Given the description of an element on the screen output the (x, y) to click on. 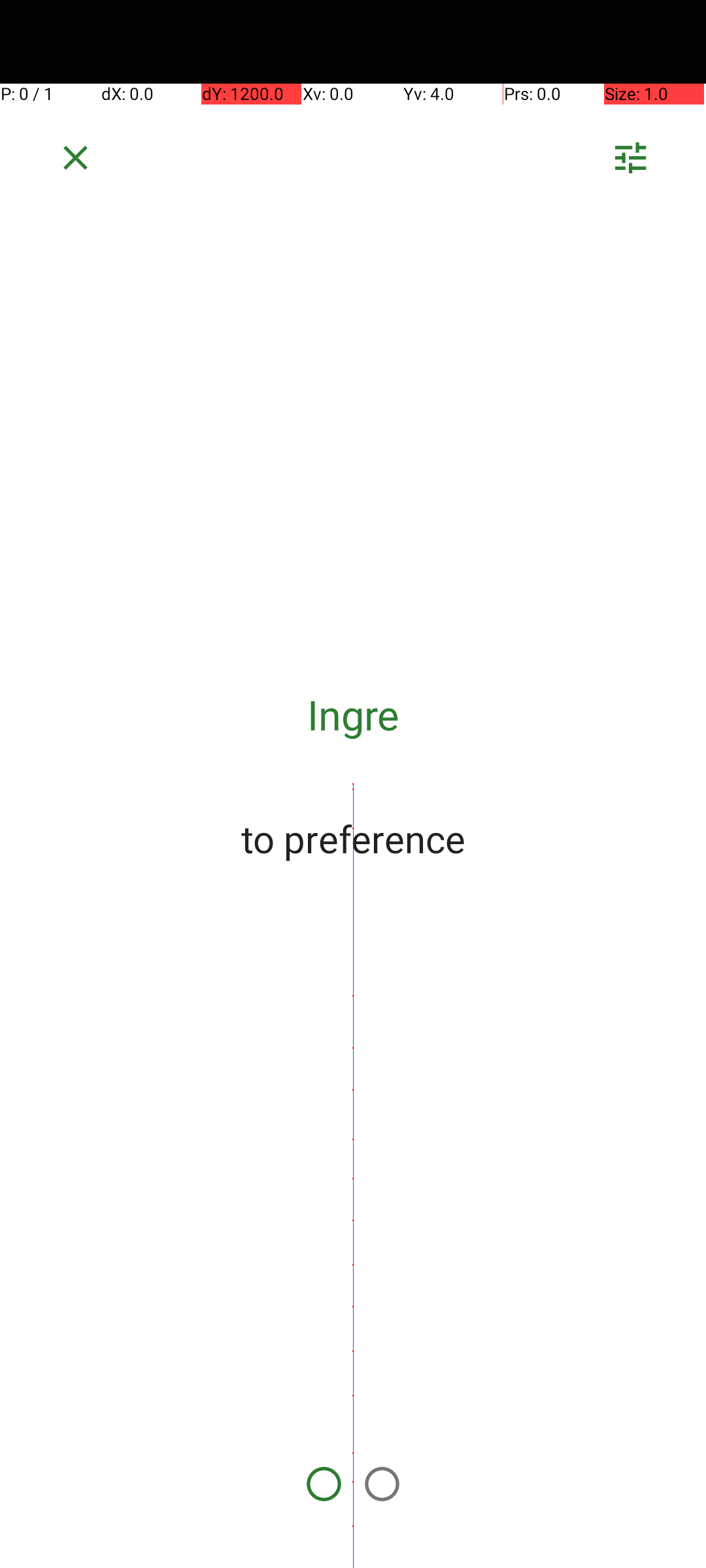
to preference Element type: android.widget.TextView (353, 838)
